Given the description of an element on the screen output the (x, y) to click on. 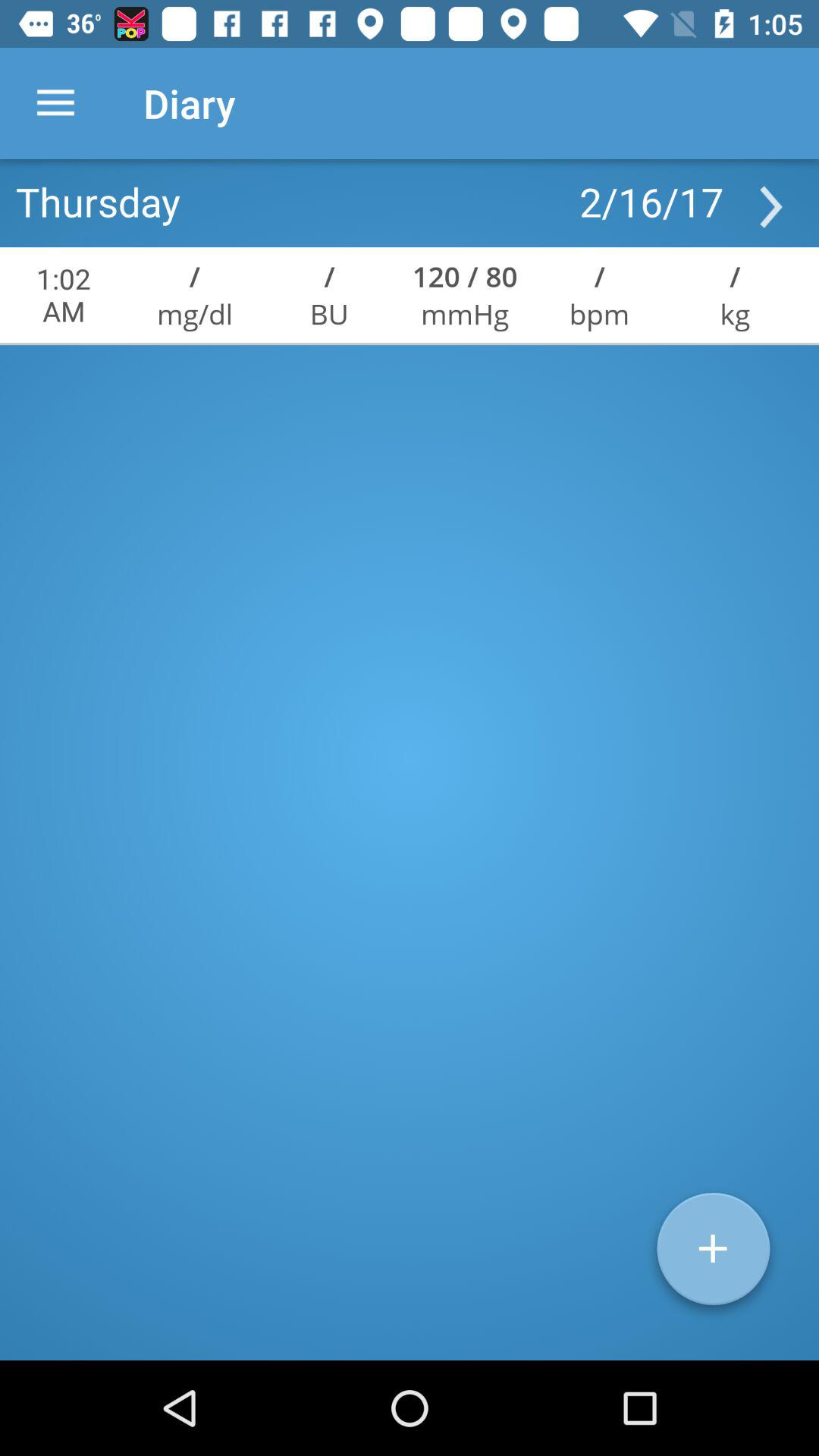
scroll until the mg/dl icon (194, 313)
